Given the description of an element on the screen output the (x, y) to click on. 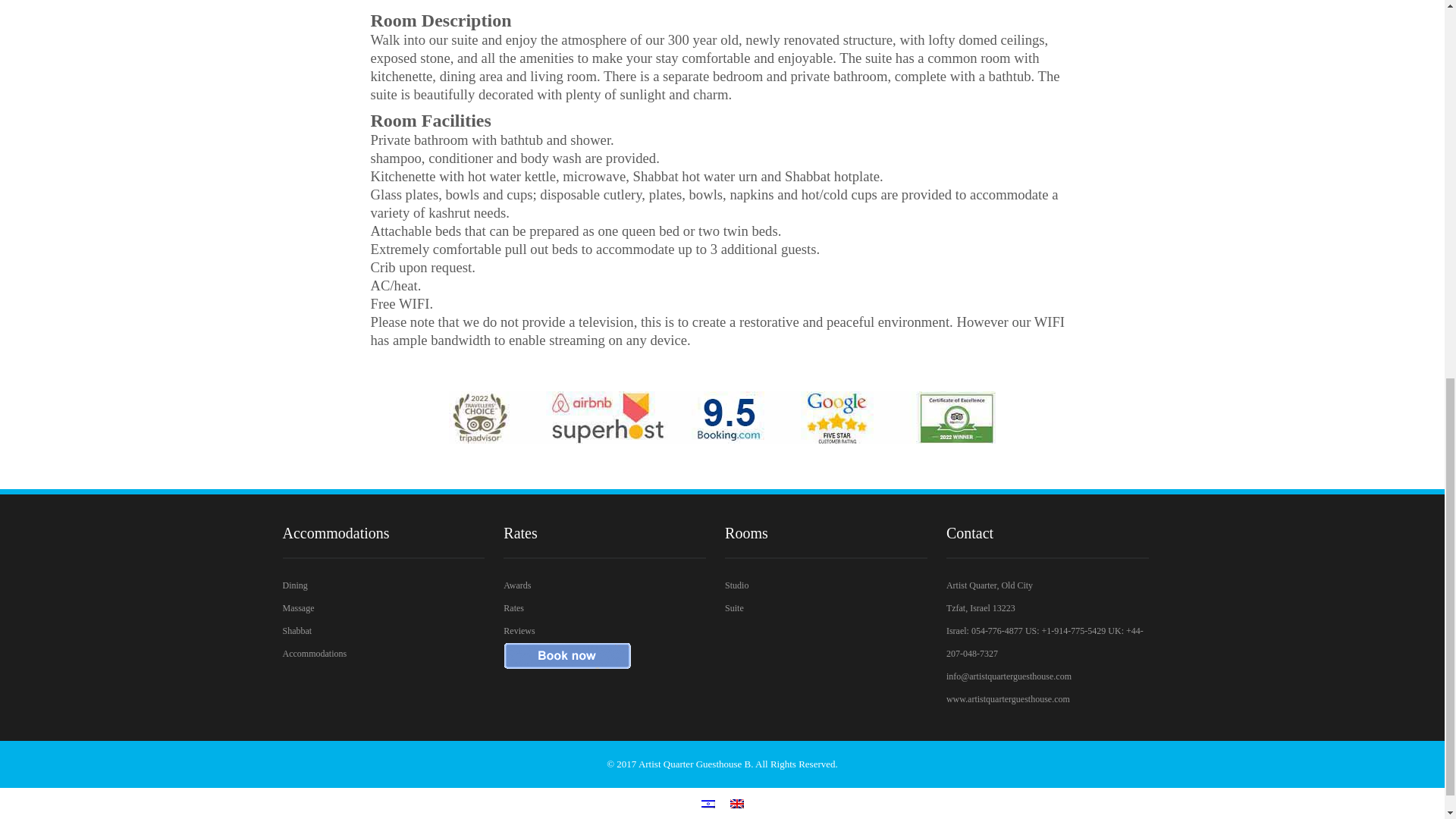
Accommodations (314, 653)
Awards (517, 584)
www.artistquarterguesthouse.com (1008, 698)
054-776-4877 (997, 630)
Shabbat (296, 630)
Studio (736, 584)
Rates (513, 607)
Massage (298, 607)
Suite (734, 607)
Reviews (518, 630)
Dining (294, 584)
